Given the description of an element on the screen output the (x, y) to click on. 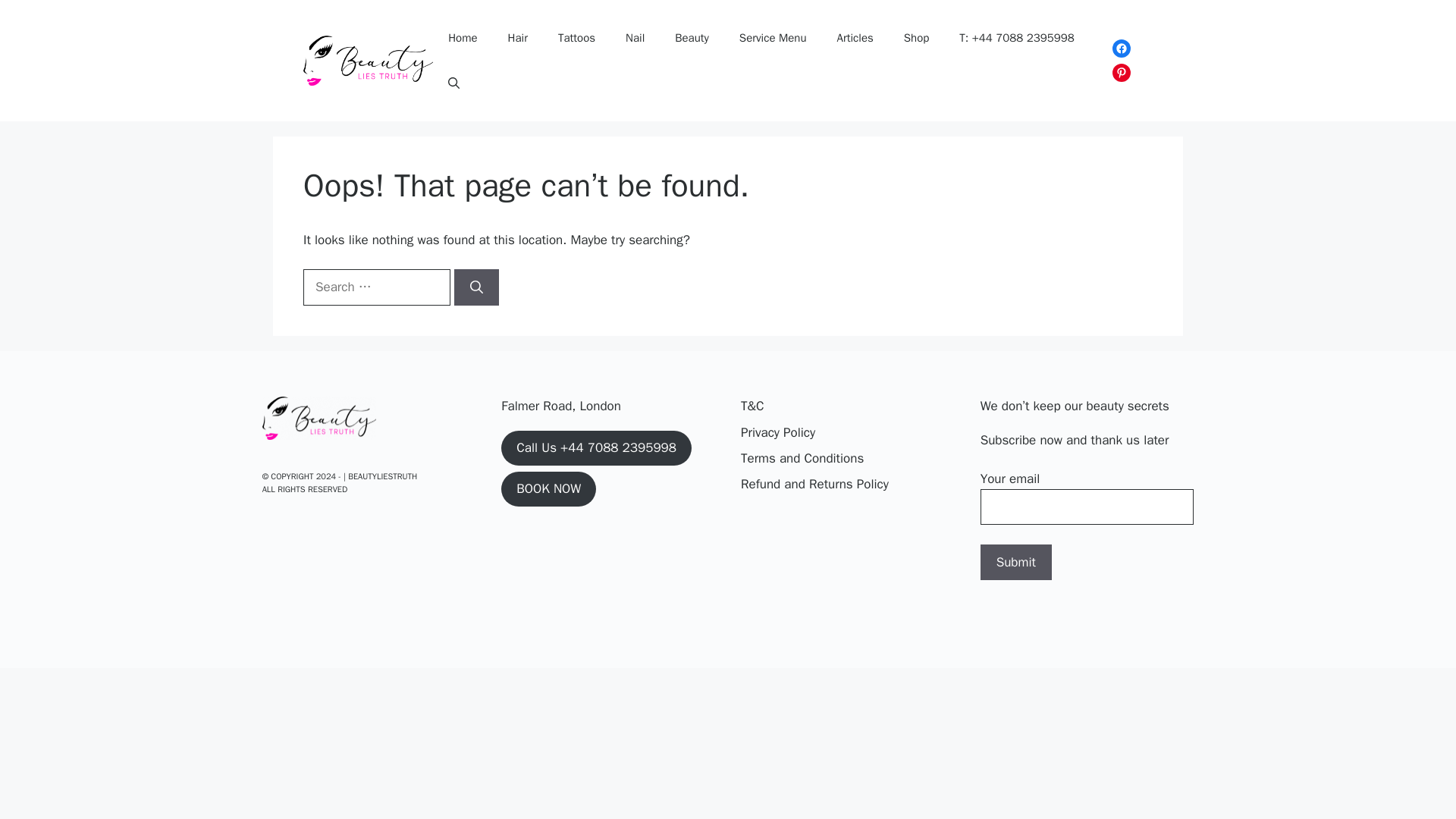
Shop (916, 37)
Nail (634, 37)
logo-BLT (318, 418)
Tattoos (576, 37)
Submit (1015, 562)
Pinterest (1121, 72)
Submit (1015, 562)
Hair (518, 37)
Terms and Conditions (802, 458)
Articles (855, 37)
Home (462, 37)
Facebook (1121, 48)
Service Menu (772, 37)
Privacy Policy (778, 433)
Beauty (691, 37)
